Given the description of an element on the screen output the (x, y) to click on. 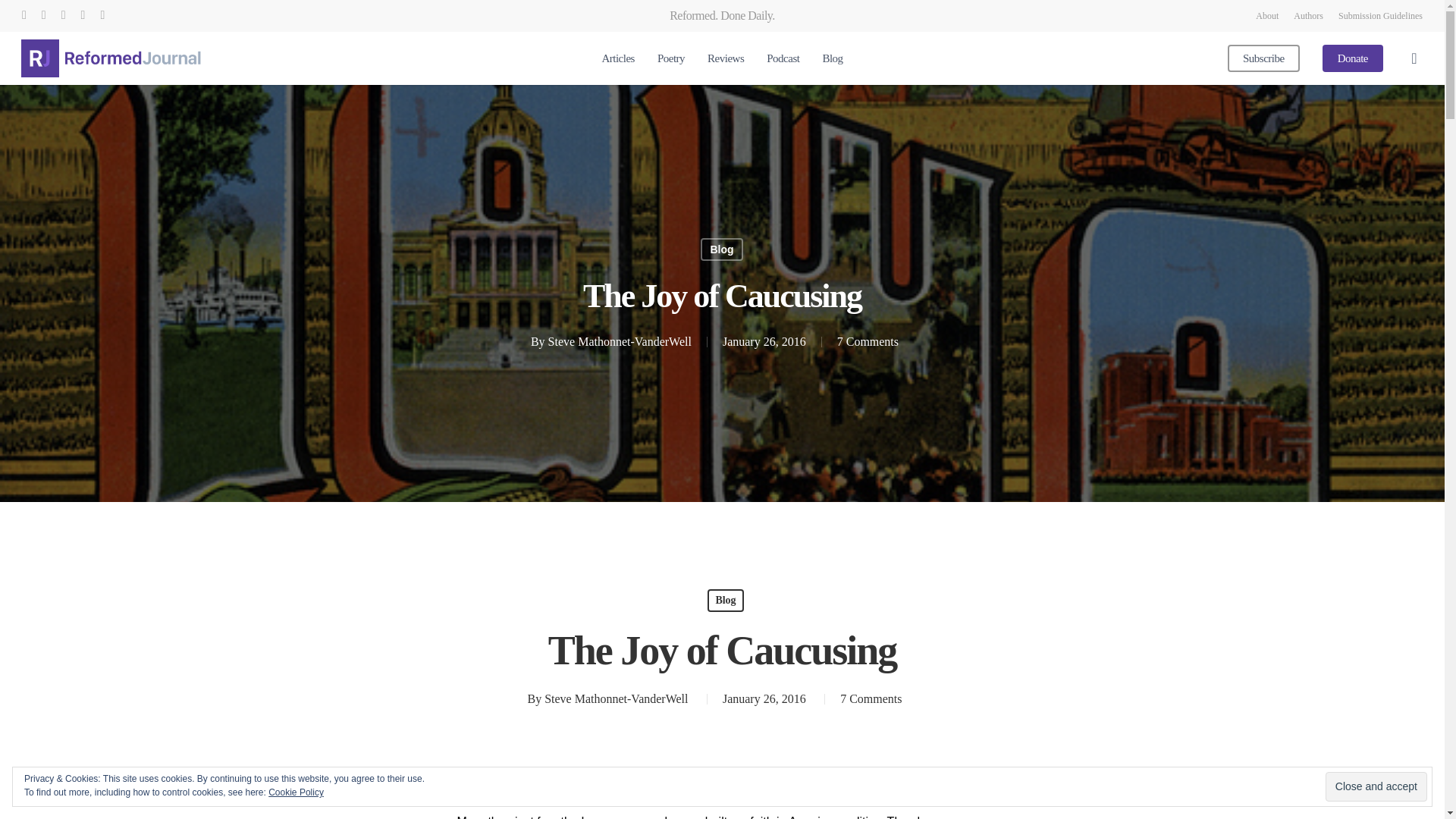
Authors (1308, 15)
Steve Mathonnet-VanderWell (619, 341)
Steve Mathonnet-VanderWell (615, 698)
search (1414, 57)
Subscribe (1263, 58)
7 Comments (870, 698)
Posts by Steve Mathonnet-VanderWell (615, 698)
Podcast (783, 58)
Reviews (725, 58)
About (1266, 15)
Articles (617, 58)
Blog (721, 249)
7 Comments (867, 341)
Posts by Steve Mathonnet-VanderWell (619, 341)
Close and accept (1375, 786)
